Given the description of an element on the screen output the (x, y) to click on. 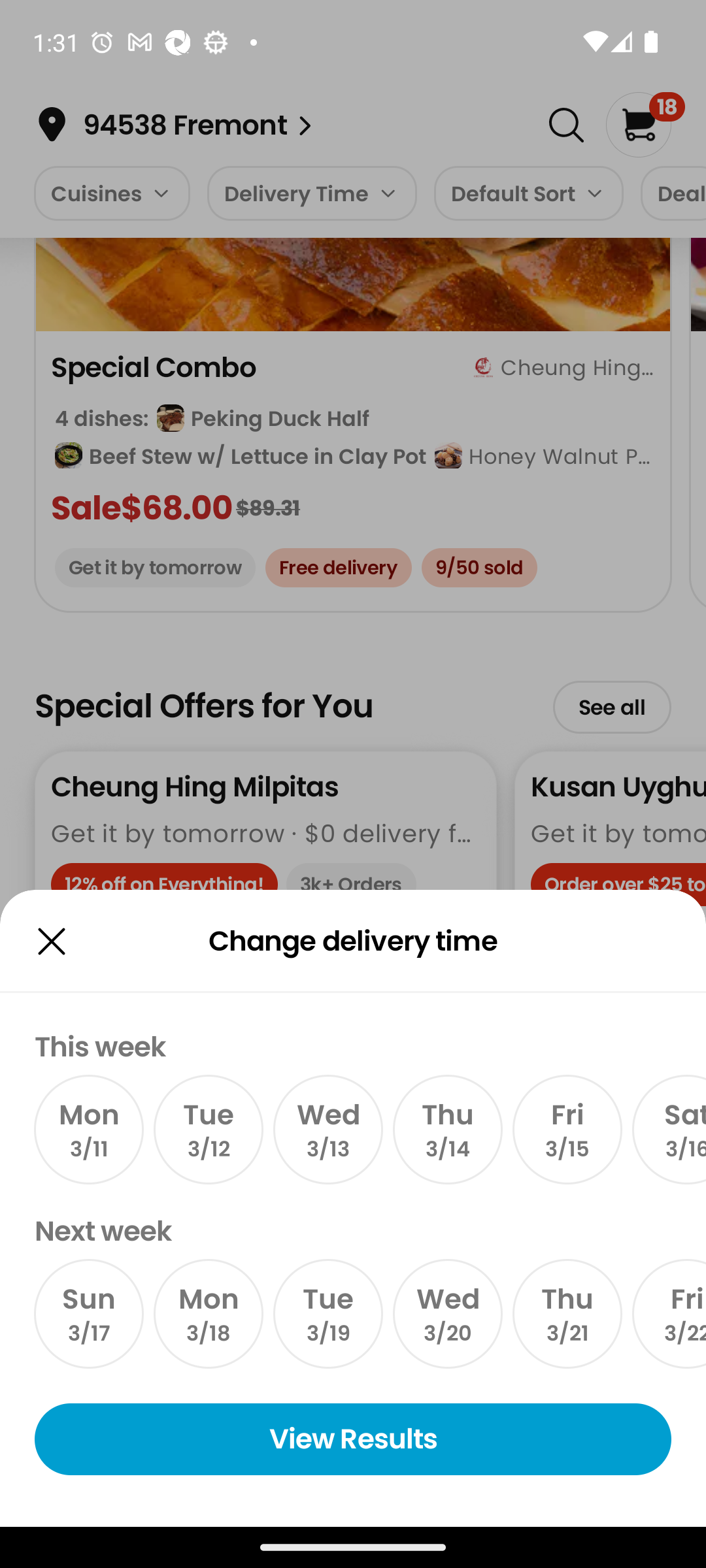
Image (51, 941)
Mon 3/11 (88, 1128)
Tue 3/12 (208, 1128)
Wed 3/13 (328, 1128)
Thu 3/14 (447, 1128)
Fri 3/15 (566, 1128)
Sat 3/16 (668, 1128)
Sun 3/17 (88, 1313)
Mon 3/18 (208, 1313)
Tue 3/19 (328, 1313)
Wed 3/20 (447, 1313)
Thu 3/21 (566, 1313)
Fri 3/22 (668, 1313)
View Results (352, 1439)
